Given the description of an element on the screen output the (x, y) to click on. 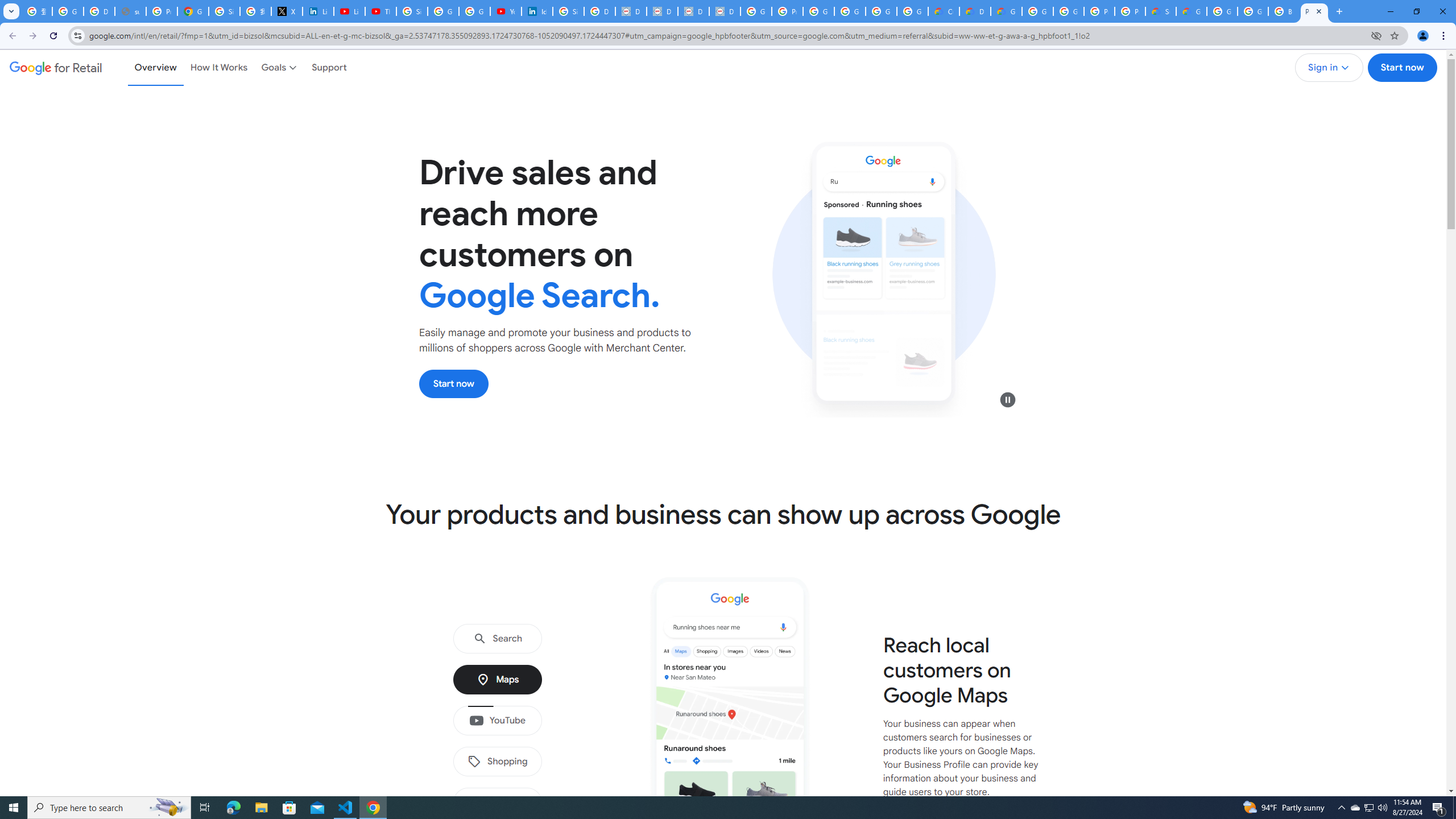
Data Privacy Framework (662, 11)
How It Works (218, 67)
support.google.com - Network error (130, 11)
LinkedIn - YouTube (349, 11)
Privacy Help Center - Policies Help (161, 11)
Customer Care | Google Cloud (943, 11)
Gemini for Business and Developers | Google Cloud (1005, 11)
